Given the description of an element on the screen output the (x, y) to click on. 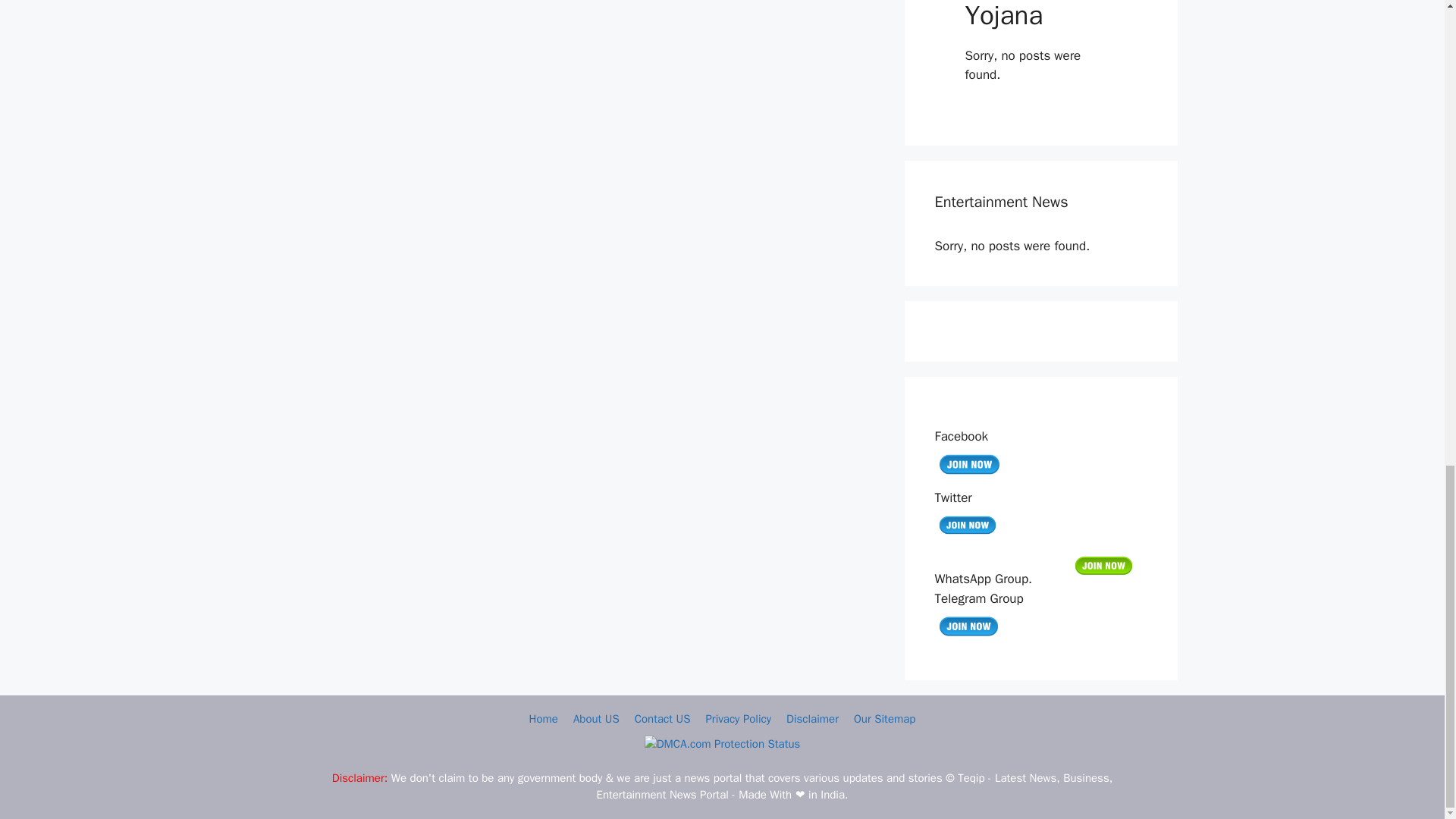
Home (543, 718)
Our Sitemap (884, 718)
Privacy Policy (737, 718)
About US (596, 718)
DMCA.com Protection Status (722, 744)
Disclaimer (812, 718)
Contact US (662, 718)
